Given the description of an element on the screen output the (x, y) to click on. 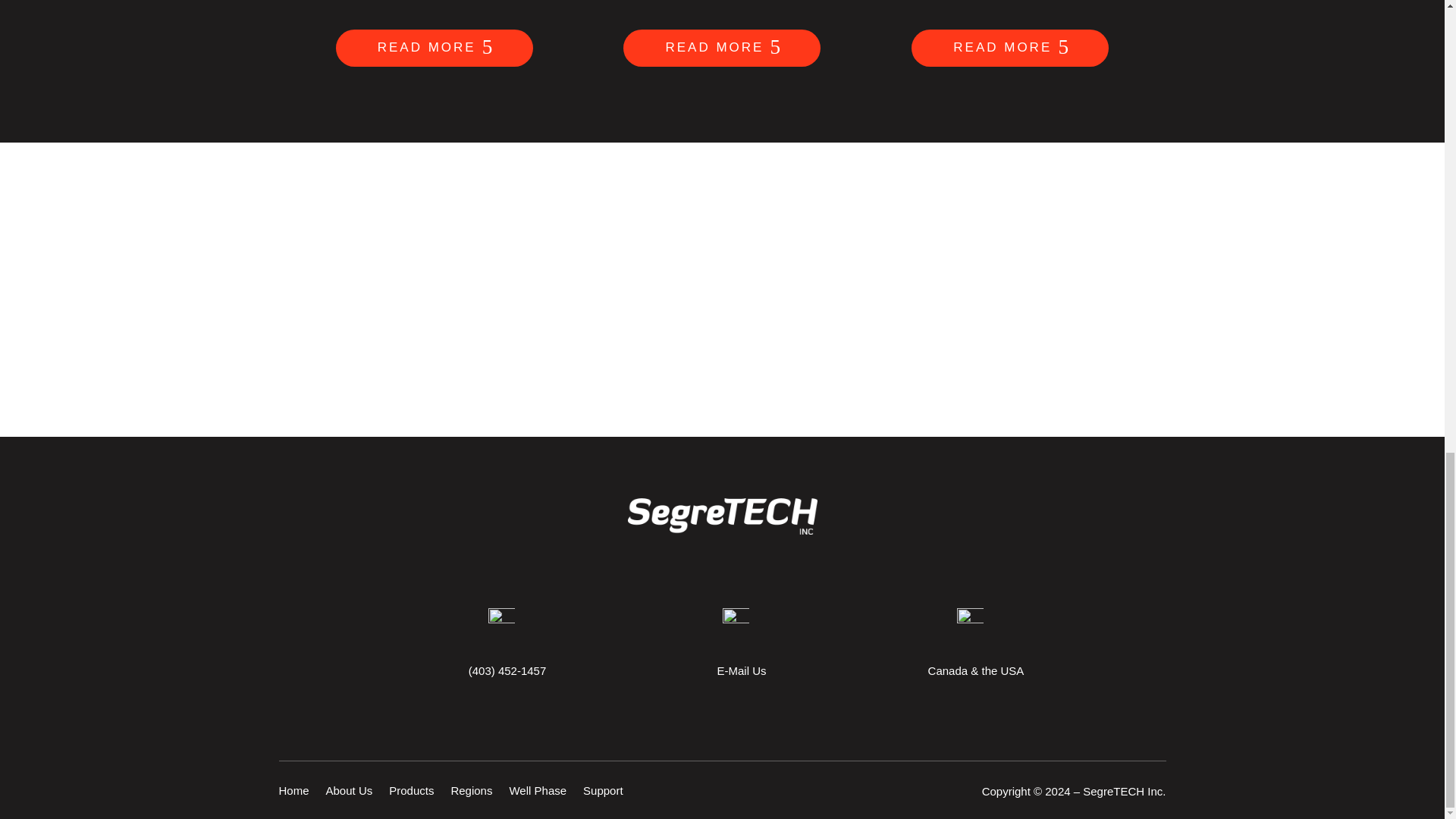
READ MORE (434, 47)
READ MORE (1009, 47)
READ MORE (722, 47)
E-Mail Us (740, 670)
